Given the description of an element on the screen output the (x, y) to click on. 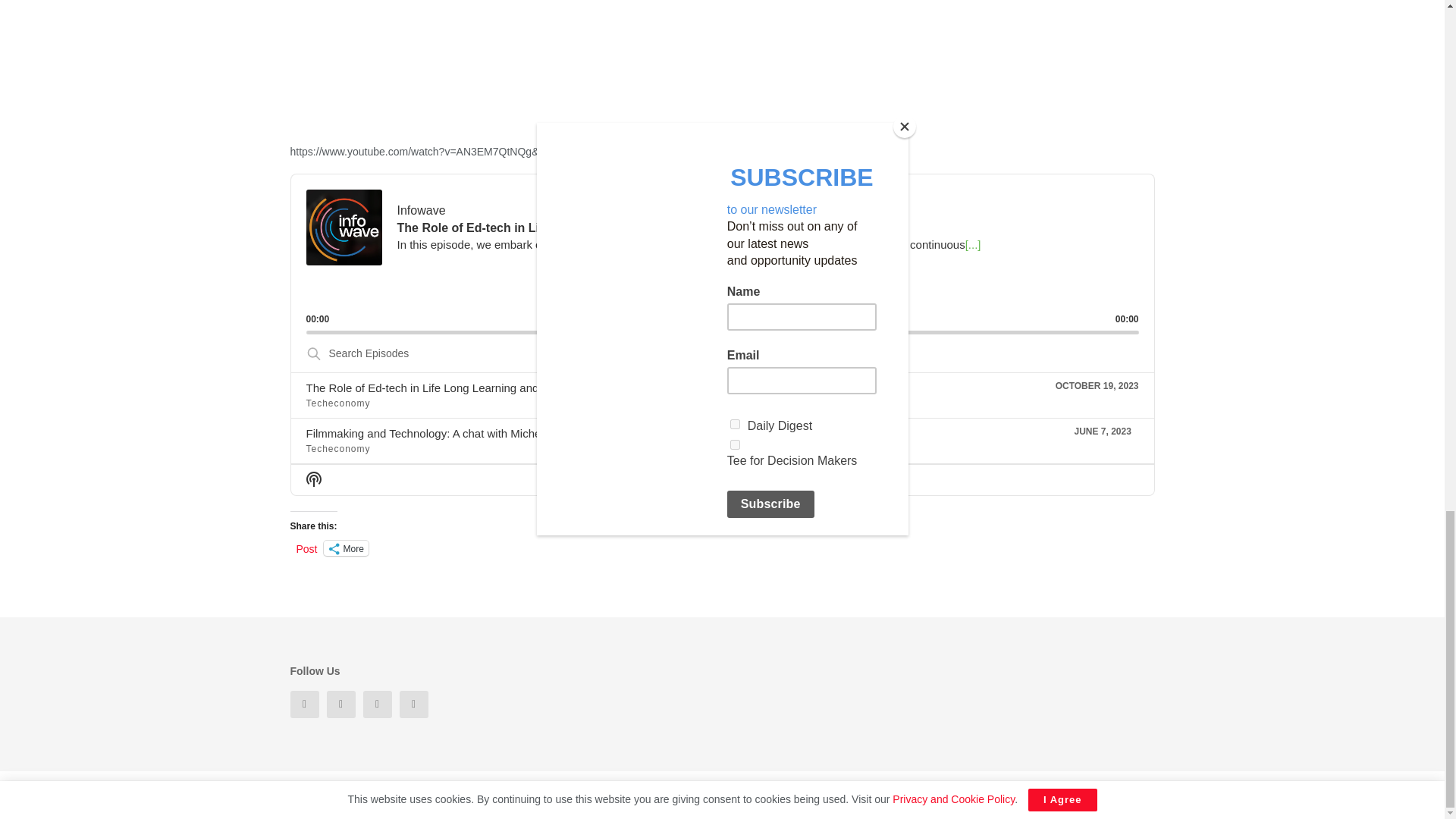
Opmedia (458, 794)
Techeconomy (349, 794)
Search Podcast Episodes (721, 353)
